Given the description of an element on the screen output the (x, y) to click on. 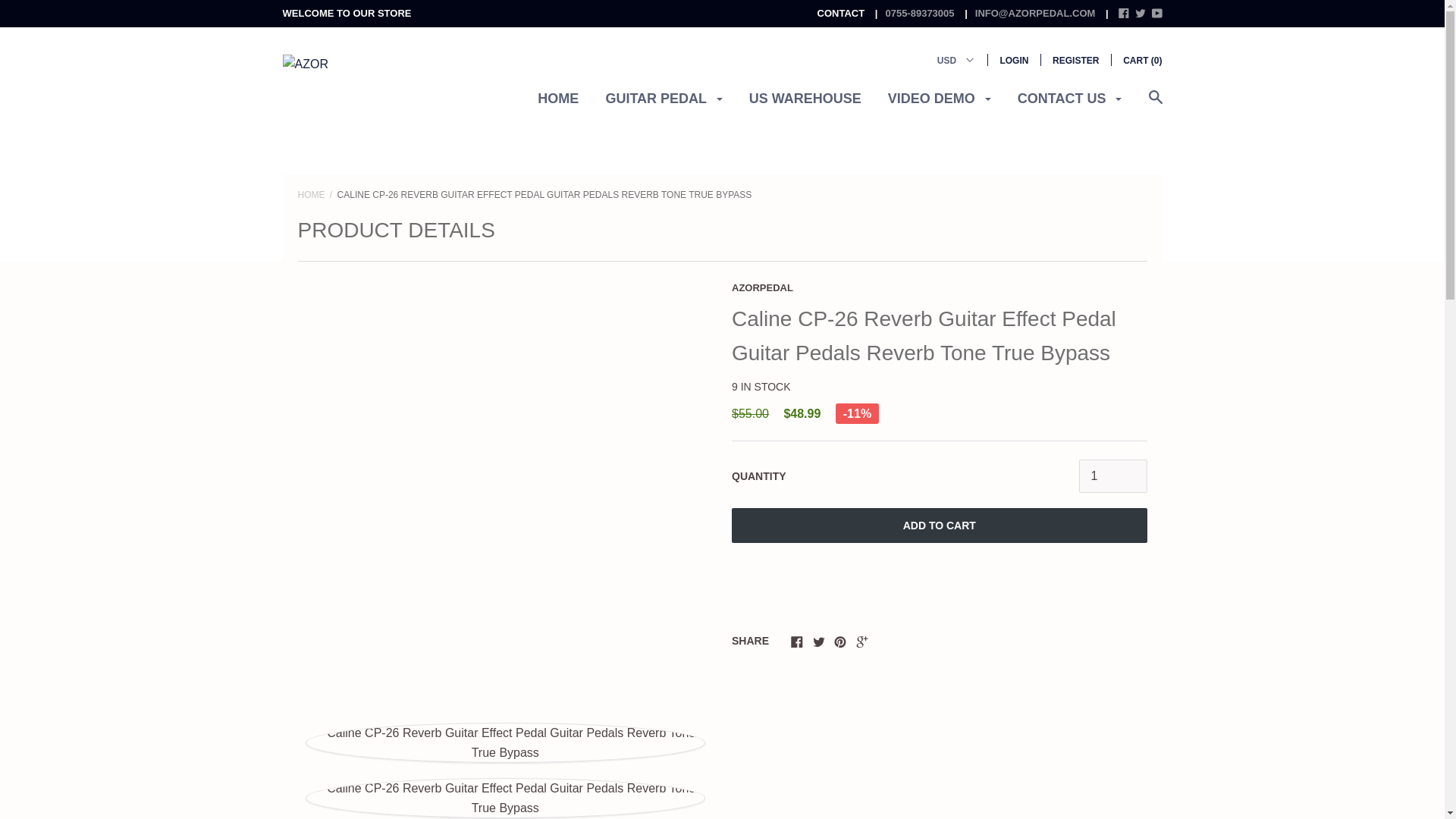
Facebook (796, 641)
WELCOME TO OUR STORE (346, 12)
REGISTER (1075, 60)
1 (1112, 476)
Twitter (1140, 12)
Twitter (818, 641)
Facebook (1123, 12)
LOGIN (1012, 60)
Pinterest (839, 641)
Facebook (1123, 14)
